Given the description of an element on the screen output the (x, y) to click on. 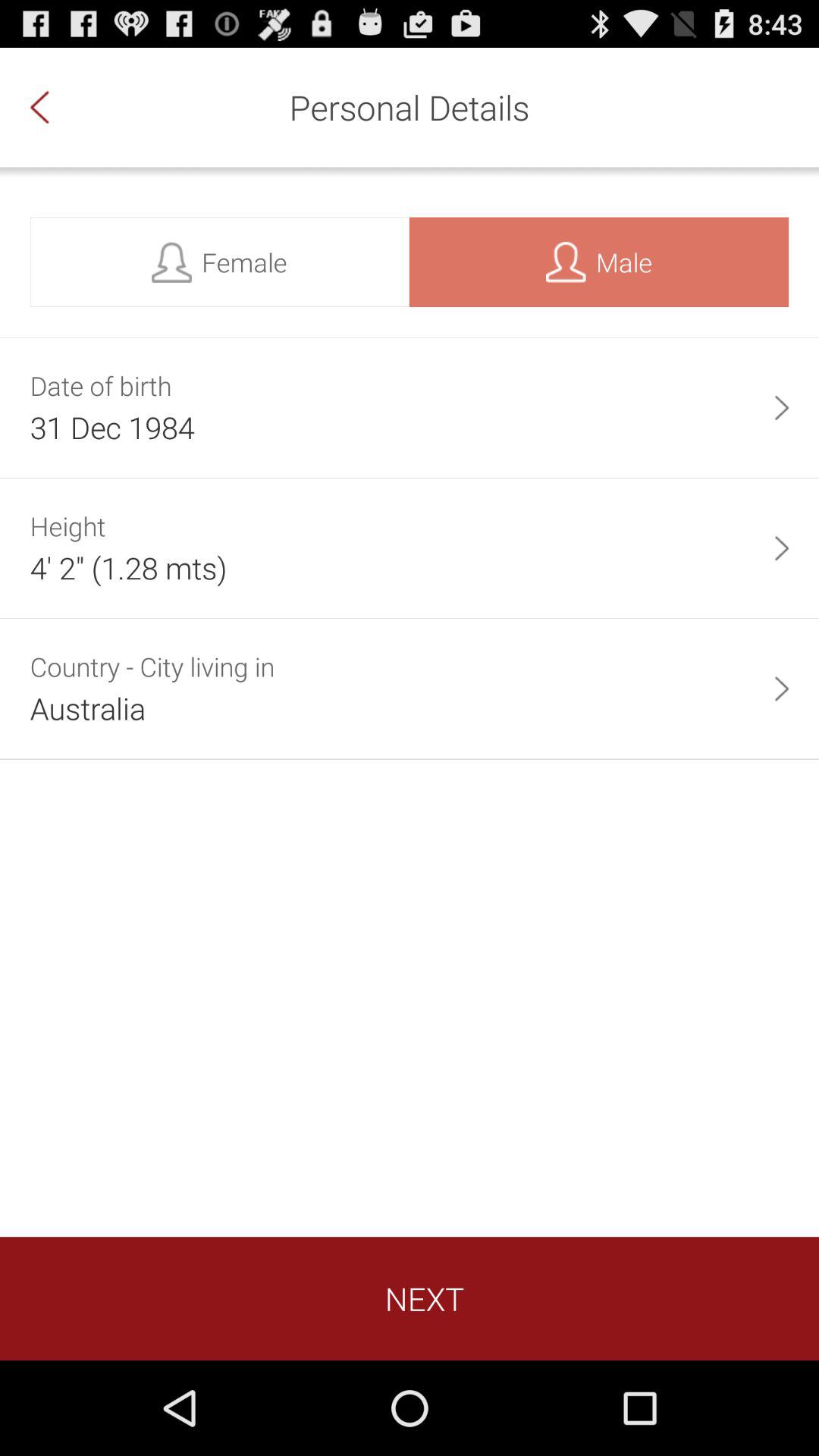
click item to the right of 4 2 1 (781, 547)
